Given the description of an element on the screen output the (x, y) to click on. 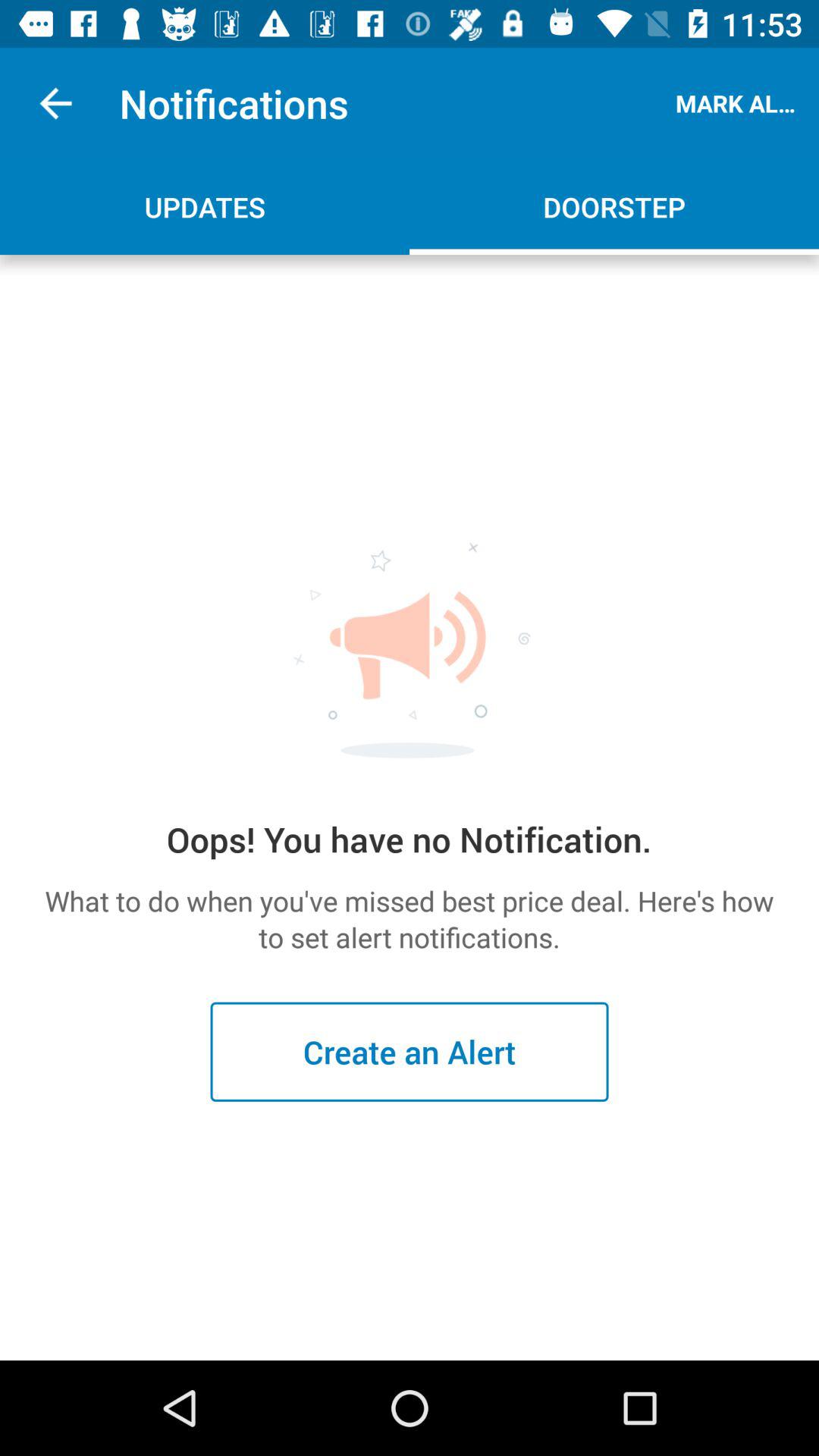
open the updates icon (204, 206)
